Given the description of an element on the screen output the (x, y) to click on. 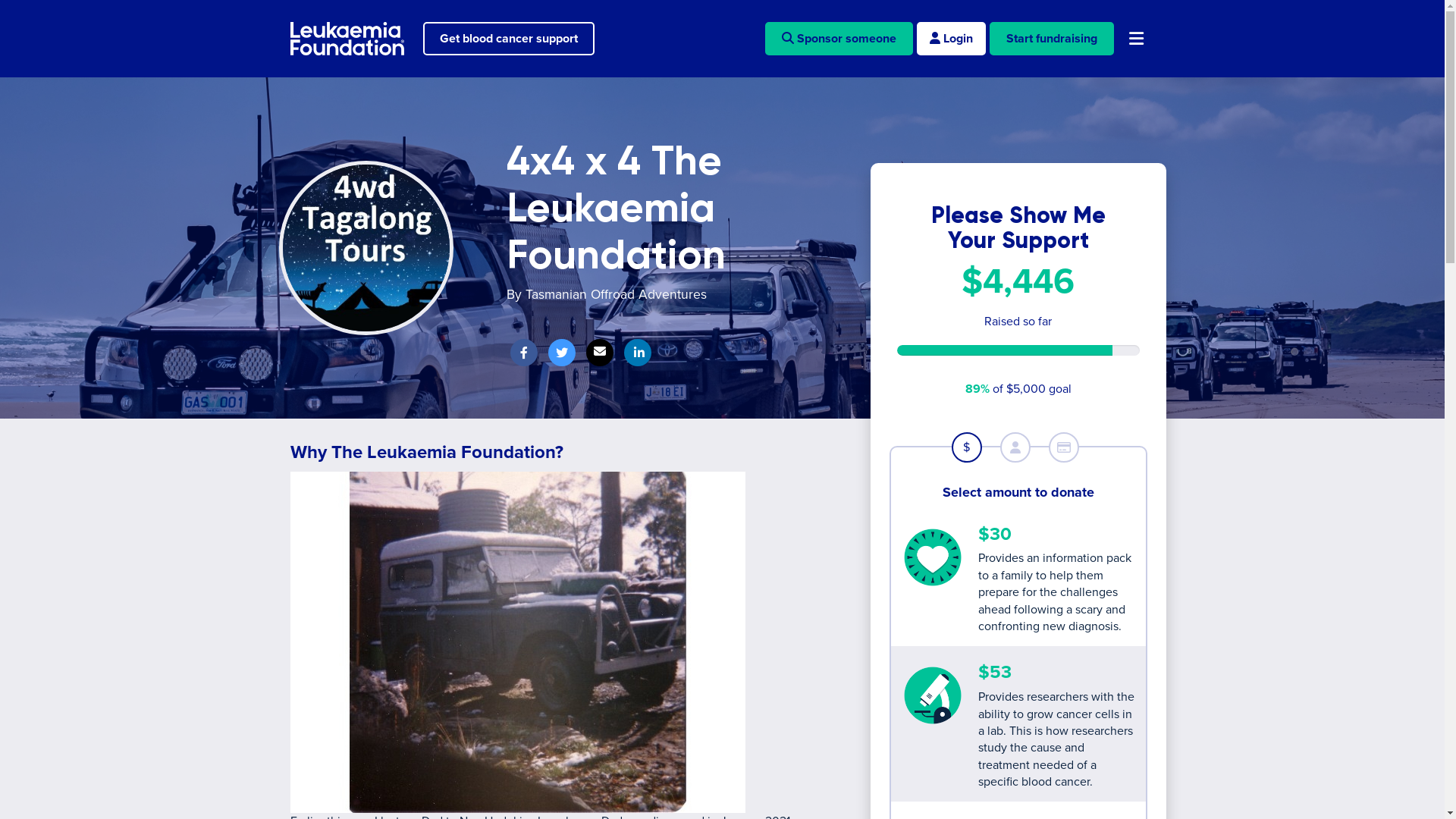
Tasmanian Offroad Adventures Element type: text (615, 294)
Login Element type: text (950, 38)
Get blood cancer support Element type: text (508, 38)
Start fundraising Element type: text (1050, 38)
Sponsor someone Element type: text (838, 38)
$ Element type: text (965, 447)
